Given the description of an element on the screen output the (x, y) to click on. 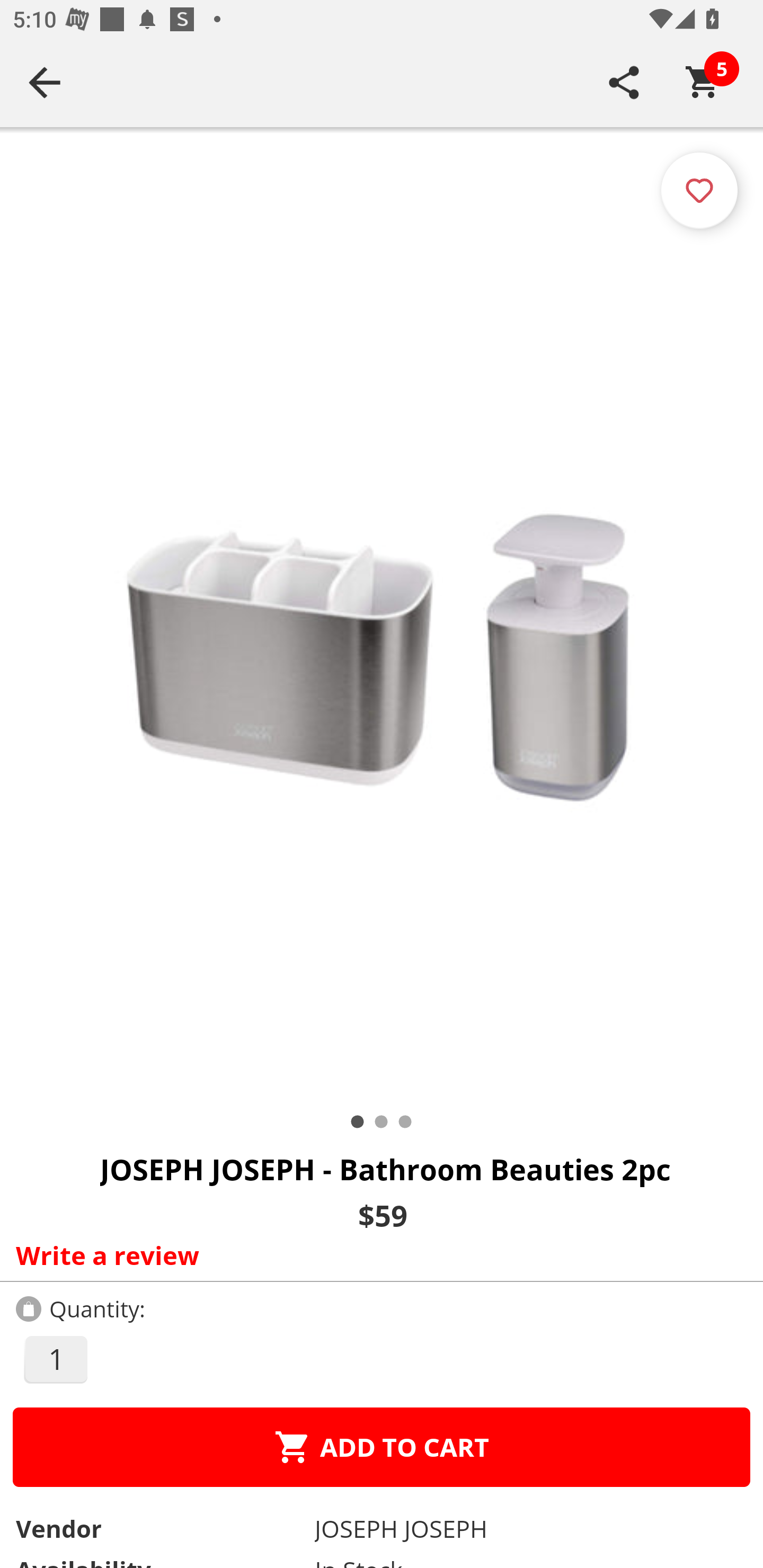
Navigate up (44, 82)
SHARE (623, 82)
Cart (703, 81)
Write a review (377, 1255)
1 (55, 1358)
ADD TO CART (381, 1447)
